Given the description of an element on the screen output the (x, y) to click on. 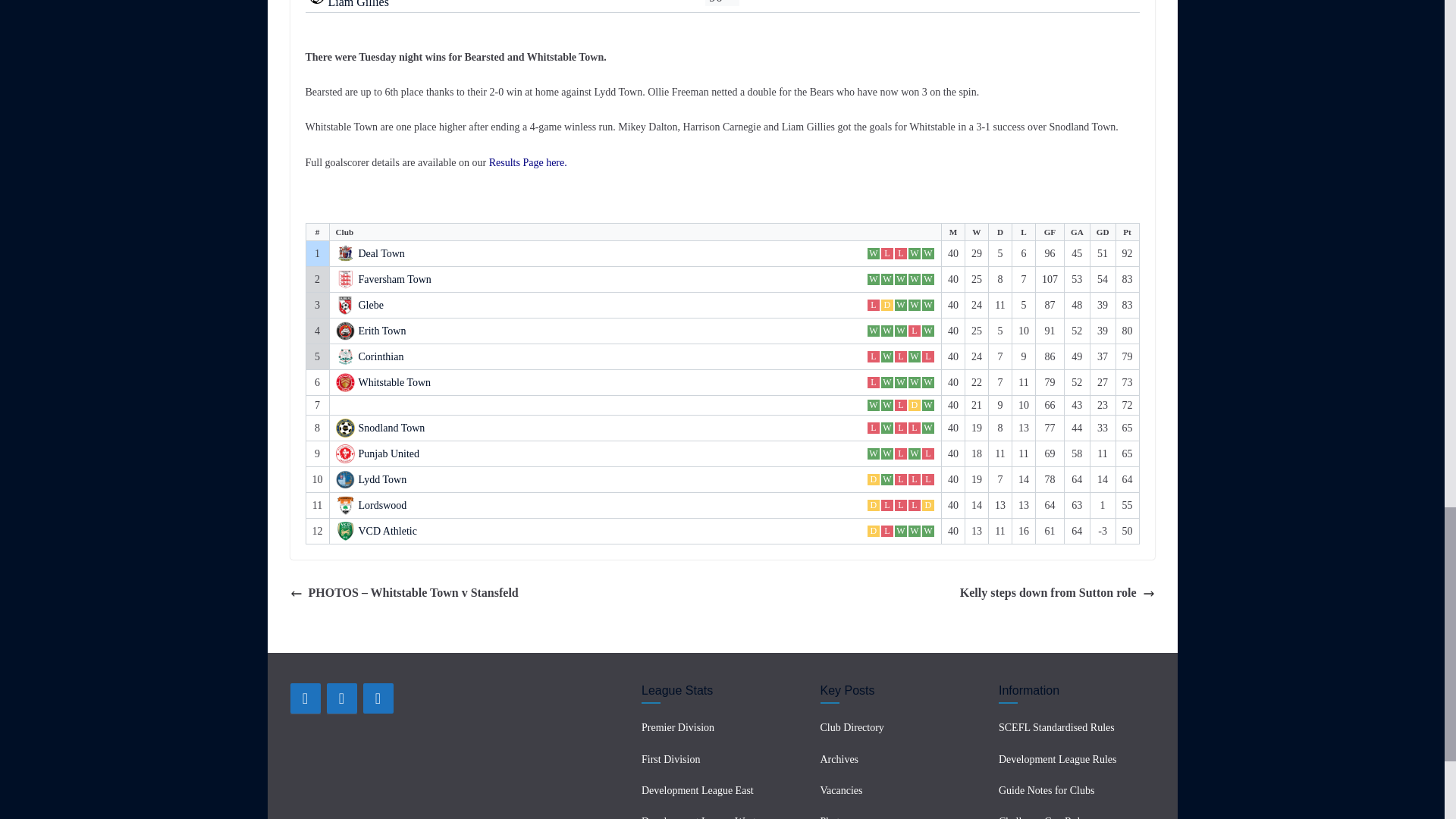
Deal Town (381, 254)
Instagram (377, 698)
Facebook (304, 698)
Twitter (341, 698)
Results Page here. (528, 162)
Liam Gillies (357, 4)
